Given the description of an element on the screen output the (x, y) to click on. 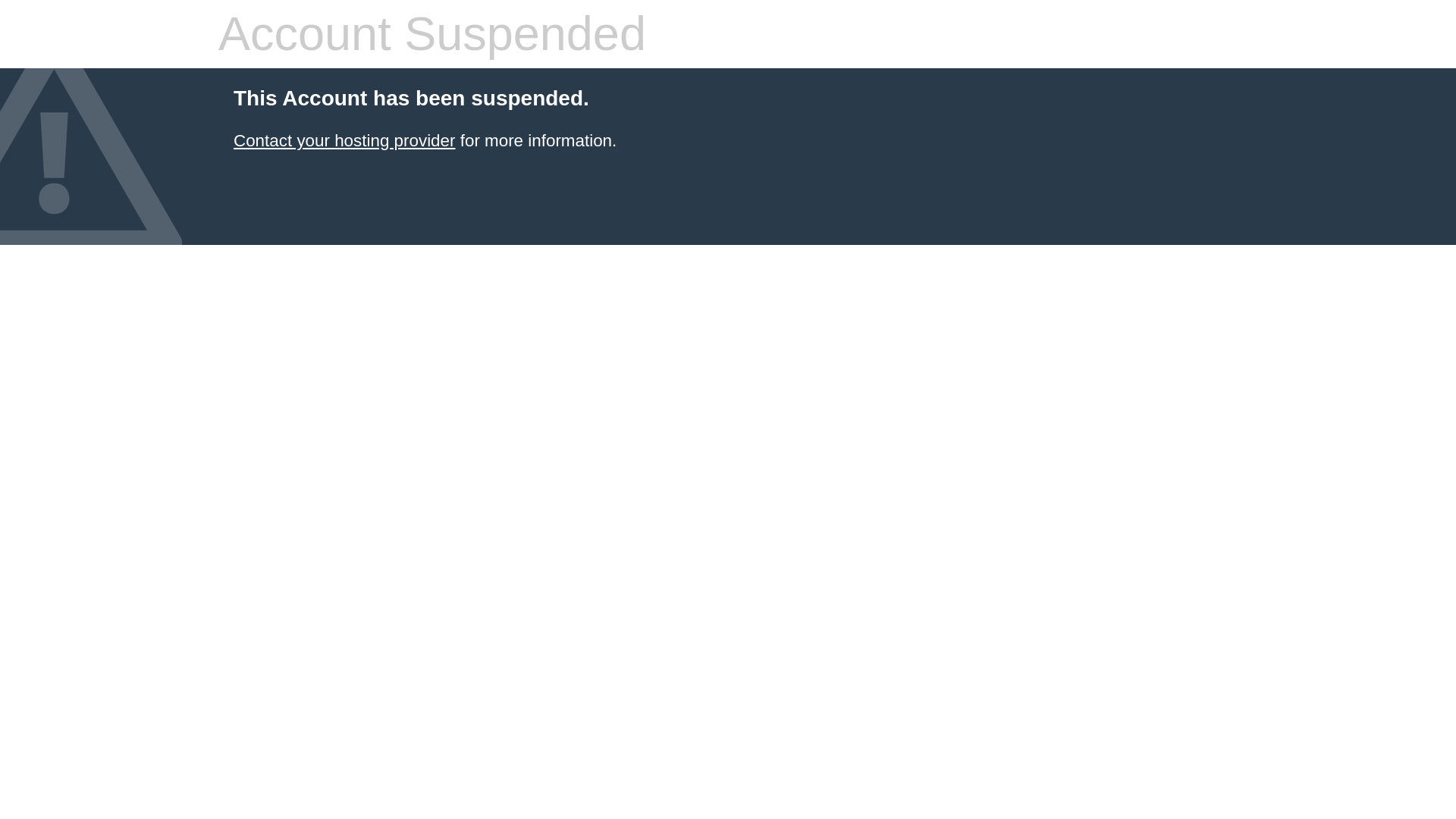
Contact your hosting provider (343, 140)
